Given the description of an element on the screen output the (x, y) to click on. 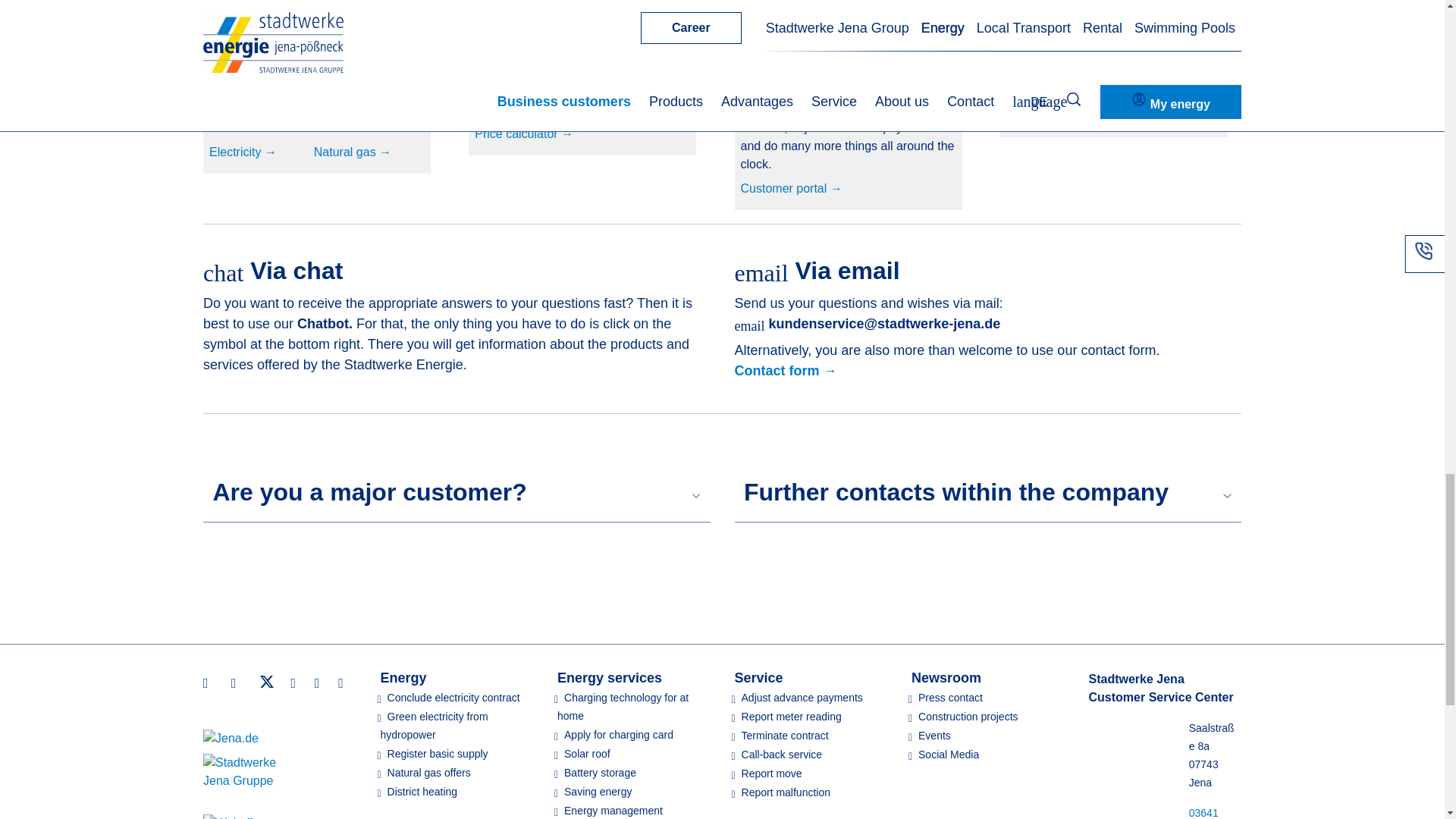
Twitter (266, 681)
Stadtwerke Jena Group (242, 771)
Jena.de (231, 738)
